Given the description of an element on the screen output the (x, y) to click on. 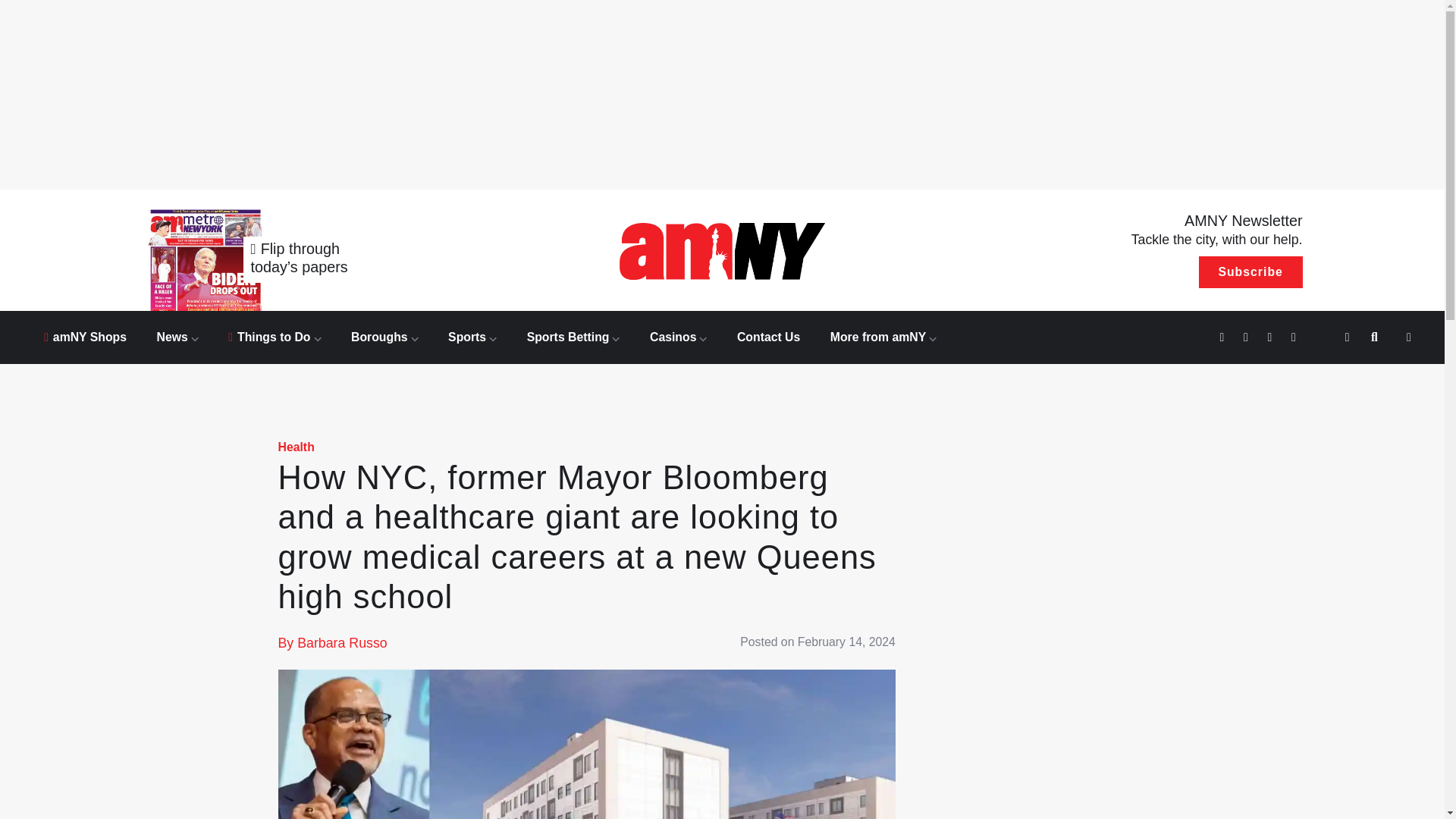
Things to Do (274, 336)
Youtube (1295, 337)
Instagram (1271, 337)
Boroughs (384, 336)
Twitter (1224, 337)
Sports (472, 336)
News (176, 336)
Facebook (1247, 337)
Subscribe (1250, 272)
amNY Shops (84, 336)
